Given the description of an element on the screen output the (x, y) to click on. 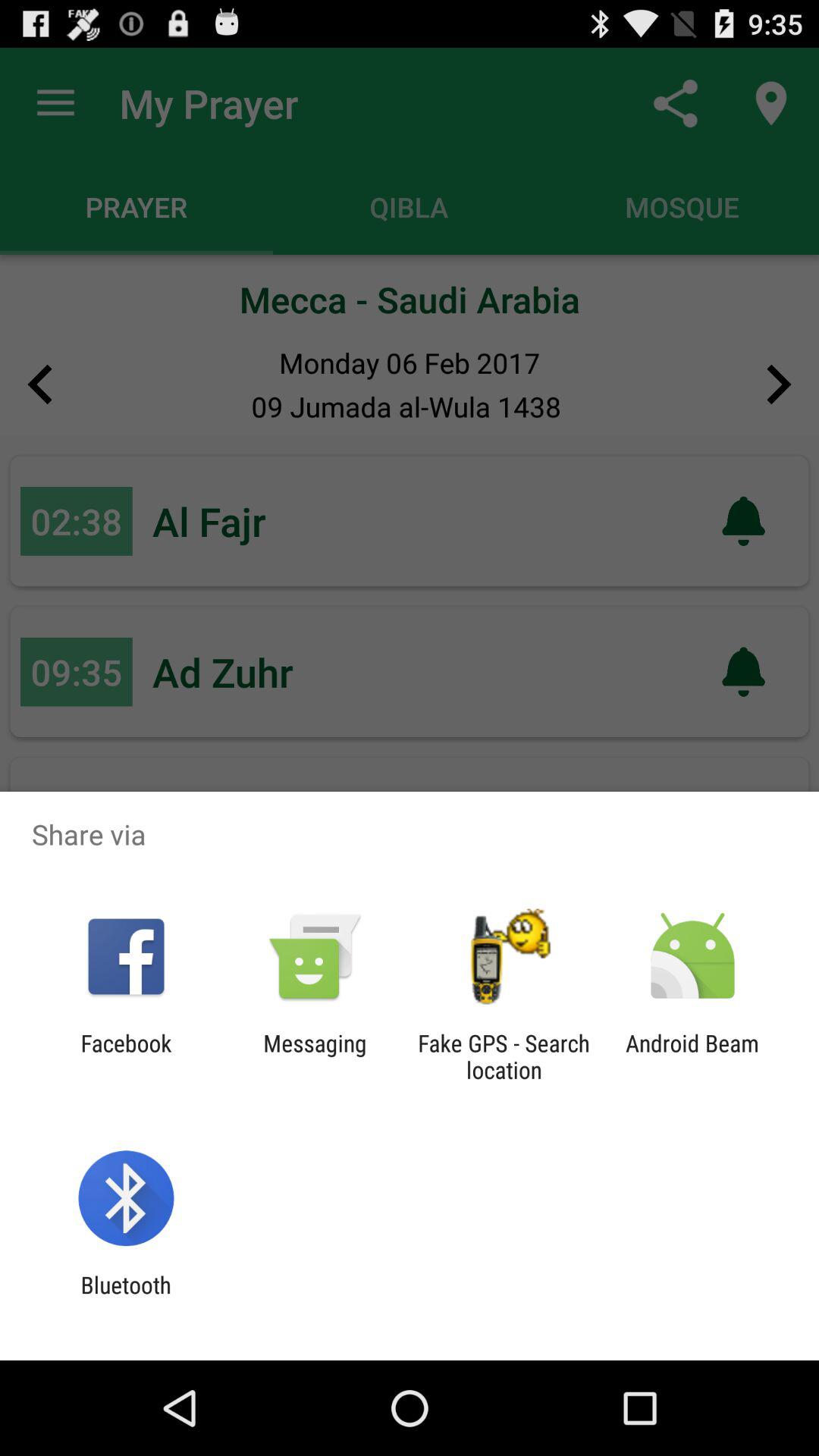
flip to the bluetooth (125, 1298)
